Given the description of an element on the screen output the (x, y) to click on. 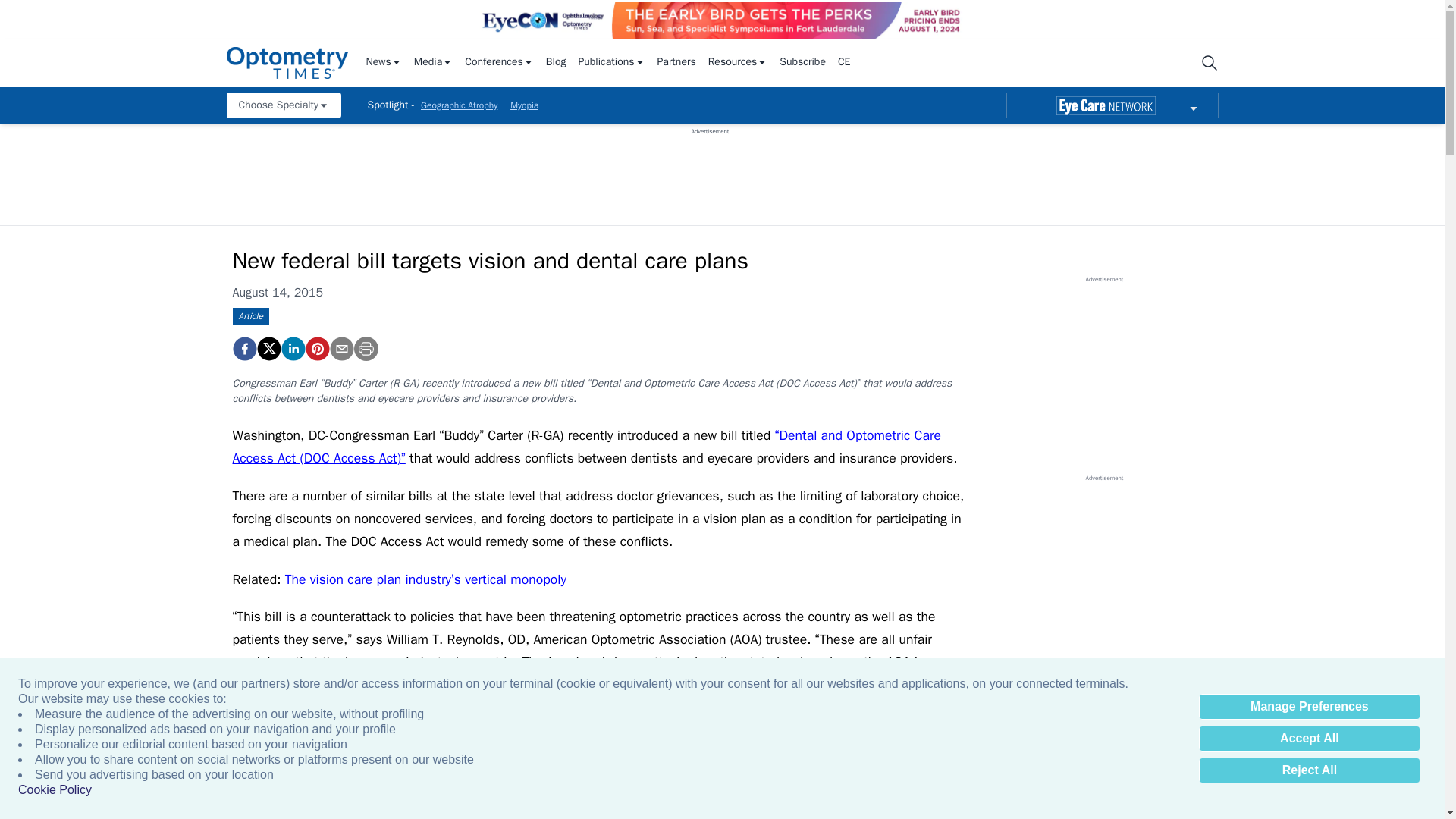
3rd party ad content (709, 169)
Blog (556, 62)
Cookie Policy (54, 789)
Publications (611, 62)
Reject All (1309, 769)
Conferences (499, 62)
News (383, 62)
Media (432, 62)
Manage Preferences (1309, 706)
New federal bill targets vision and dental care plans (316, 348)
Accept All (1309, 738)
